Given the description of an element on the screen output the (x, y) to click on. 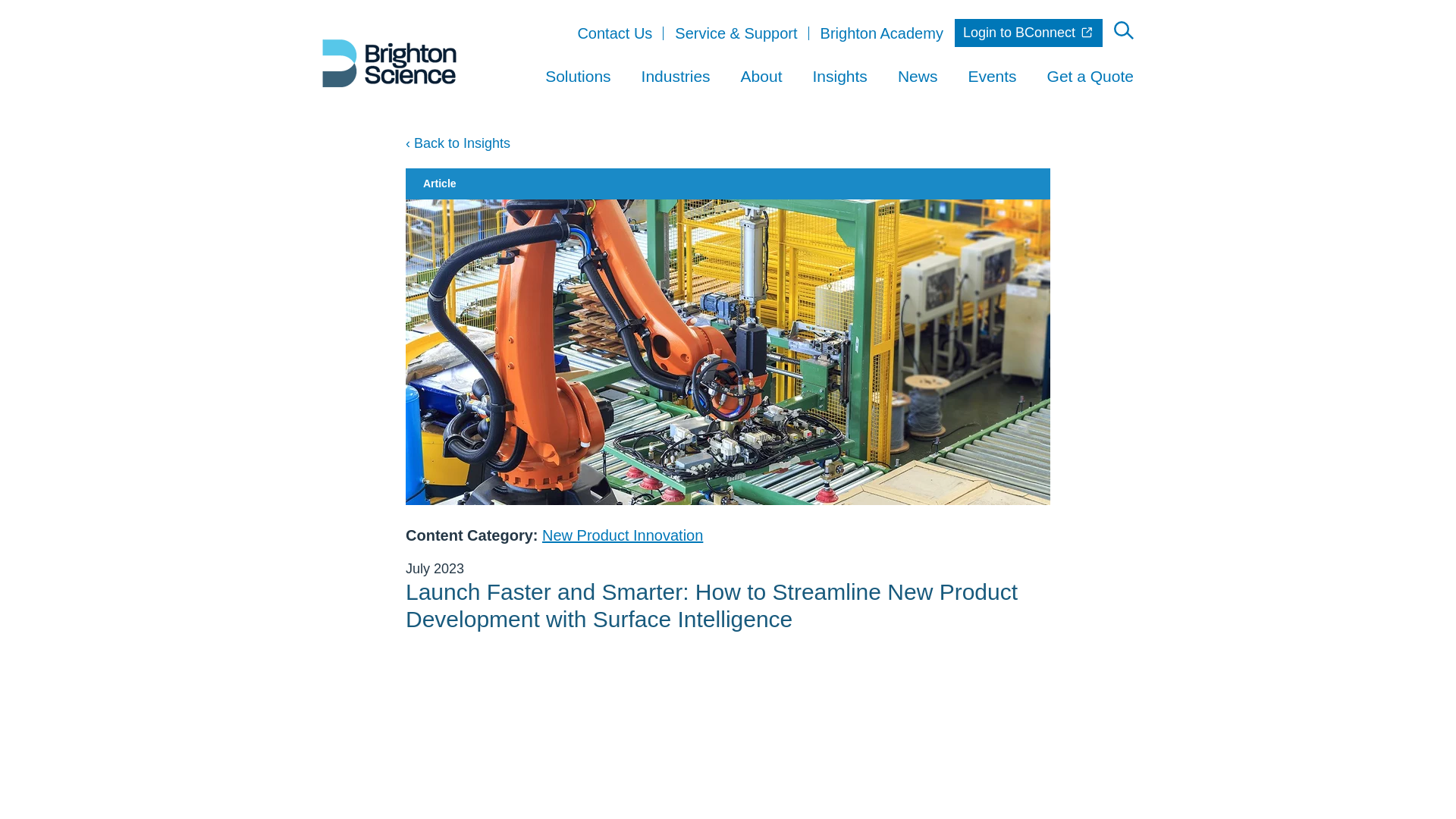
Logo-Brighton-Science-177 (389, 62)
Industries (676, 76)
Solutions (577, 76)
Get a Quote (1090, 76)
Events (992, 76)
Contact Us (614, 31)
Login to BConnect  (1028, 32)
Insights (839, 76)
About (762, 76)
News (917, 76)
